Given the description of an element on the screen output the (x, y) to click on. 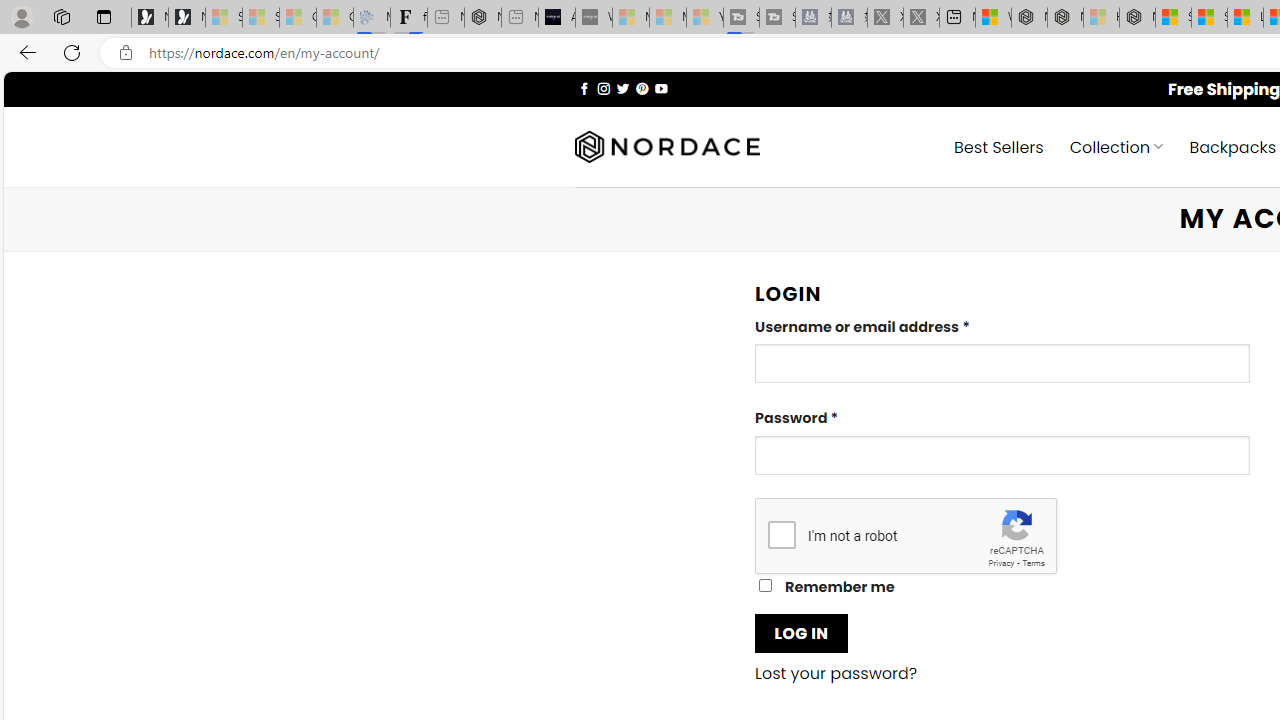
Privacy (1001, 562)
Follow on Facebook (584, 88)
Follow on YouTube (661, 88)
Wildlife - MSN (993, 17)
New tab - Sleeping (519, 17)
Nordace - #1 Japanese Best-Seller - Siena Smart Backpack (482, 17)
Terms (1033, 562)
